Given the description of an element on the screen output the (x, y) to click on. 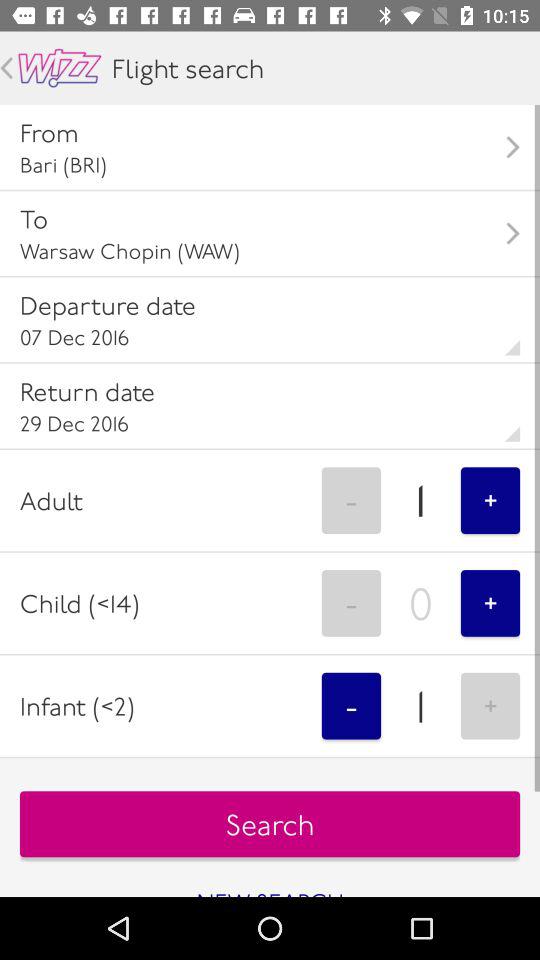
select + (490, 705)
